Given the description of an element on the screen output the (x, y) to click on. 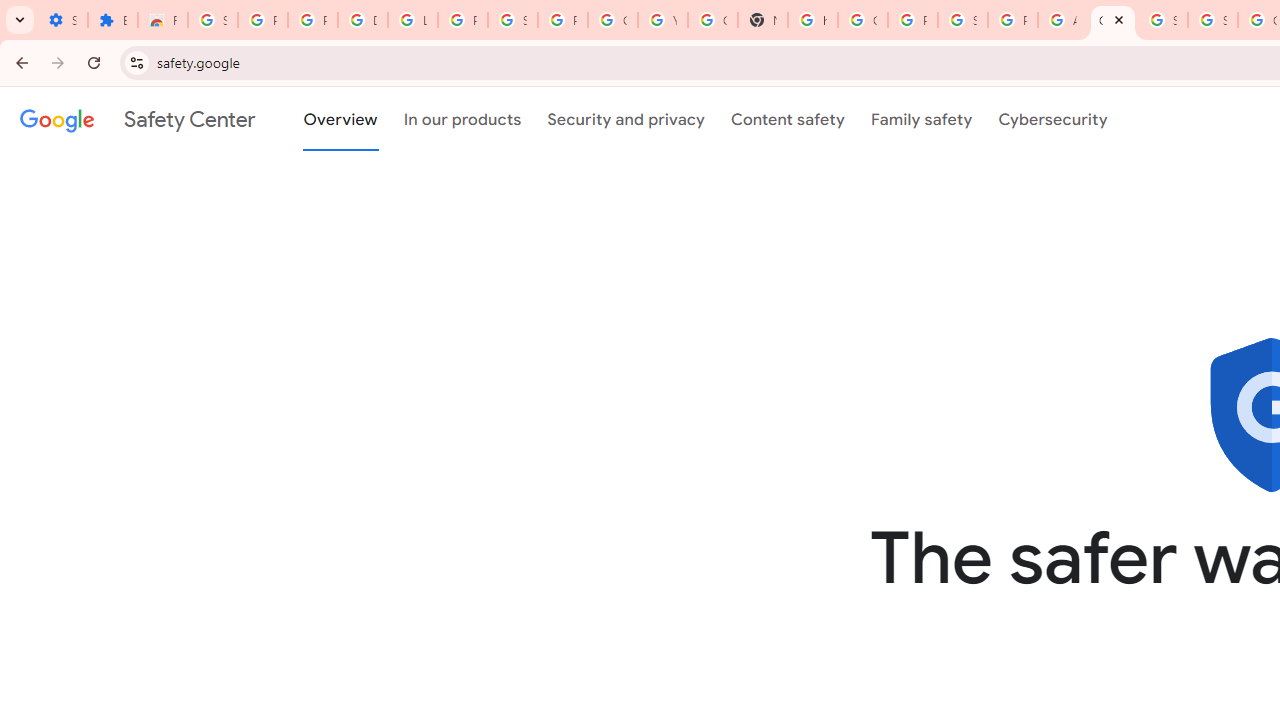
New Tab (763, 20)
Family safety (921, 119)
Safety Center (137, 119)
Settings - On startup (62, 20)
Google Account (612, 20)
In our products (462, 119)
